Given the description of an element on the screen output the (x, y) to click on. 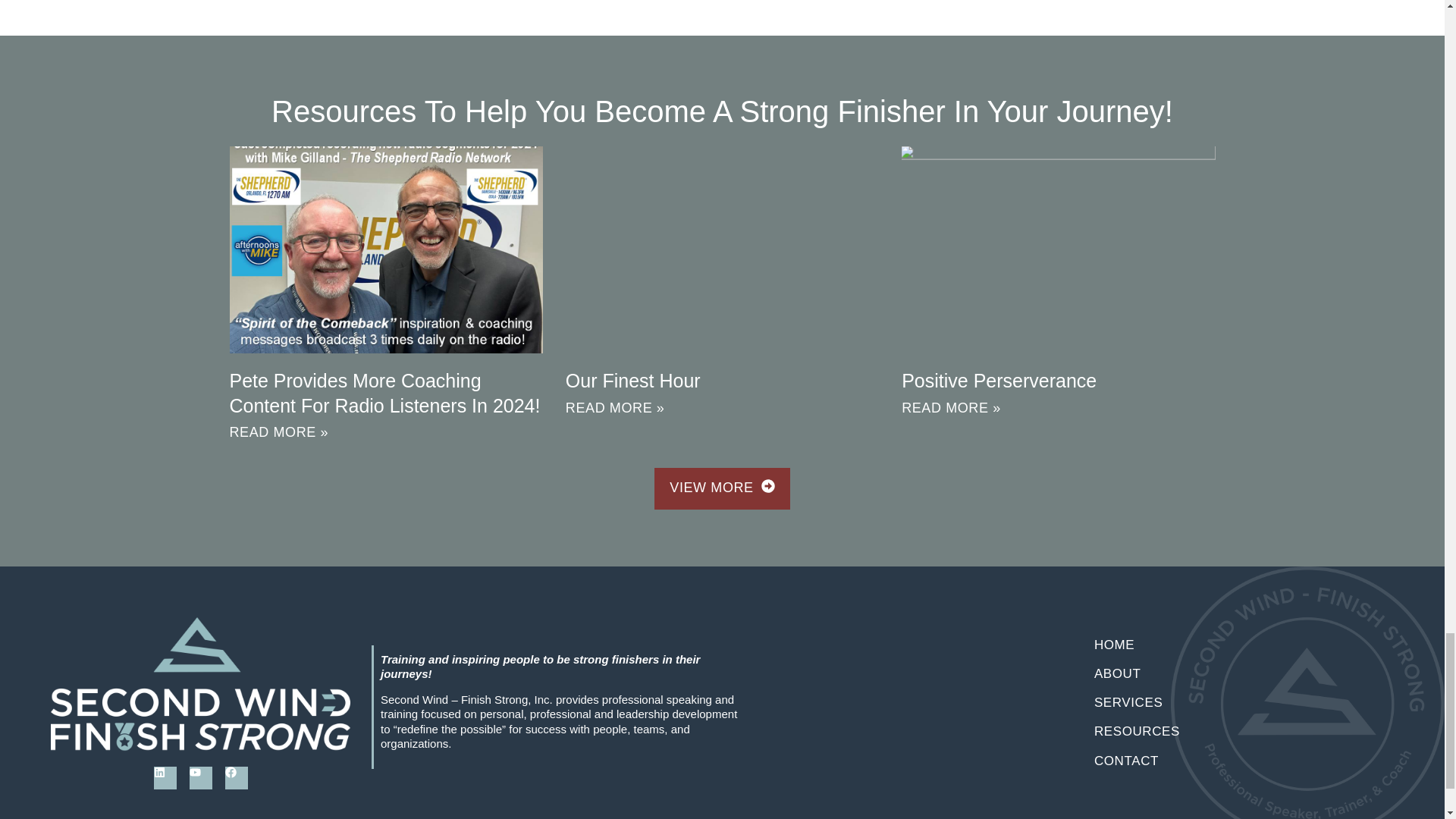
CONTACT (1243, 760)
SERVICES (1243, 702)
HOME (1243, 645)
VIEW MORE (721, 487)
Positive Perserverance (998, 380)
ABOUT (1243, 674)
Our Finest Hour (633, 380)
RESOURCES (1243, 731)
